Given the description of an element on the screen output the (x, y) to click on. 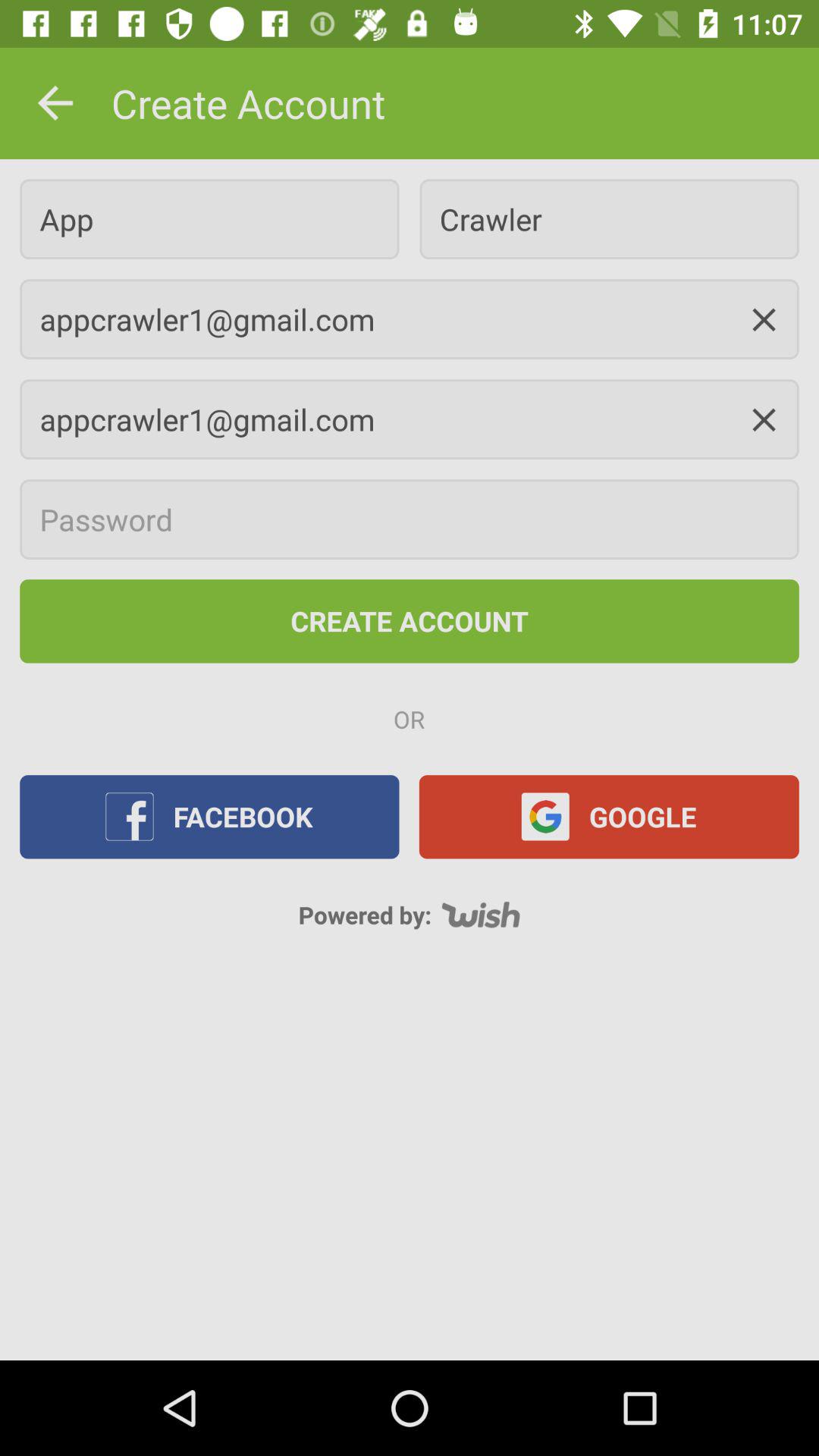
open the icon next to create account item (55, 103)
